Given the description of an element on the screen output the (x, y) to click on. 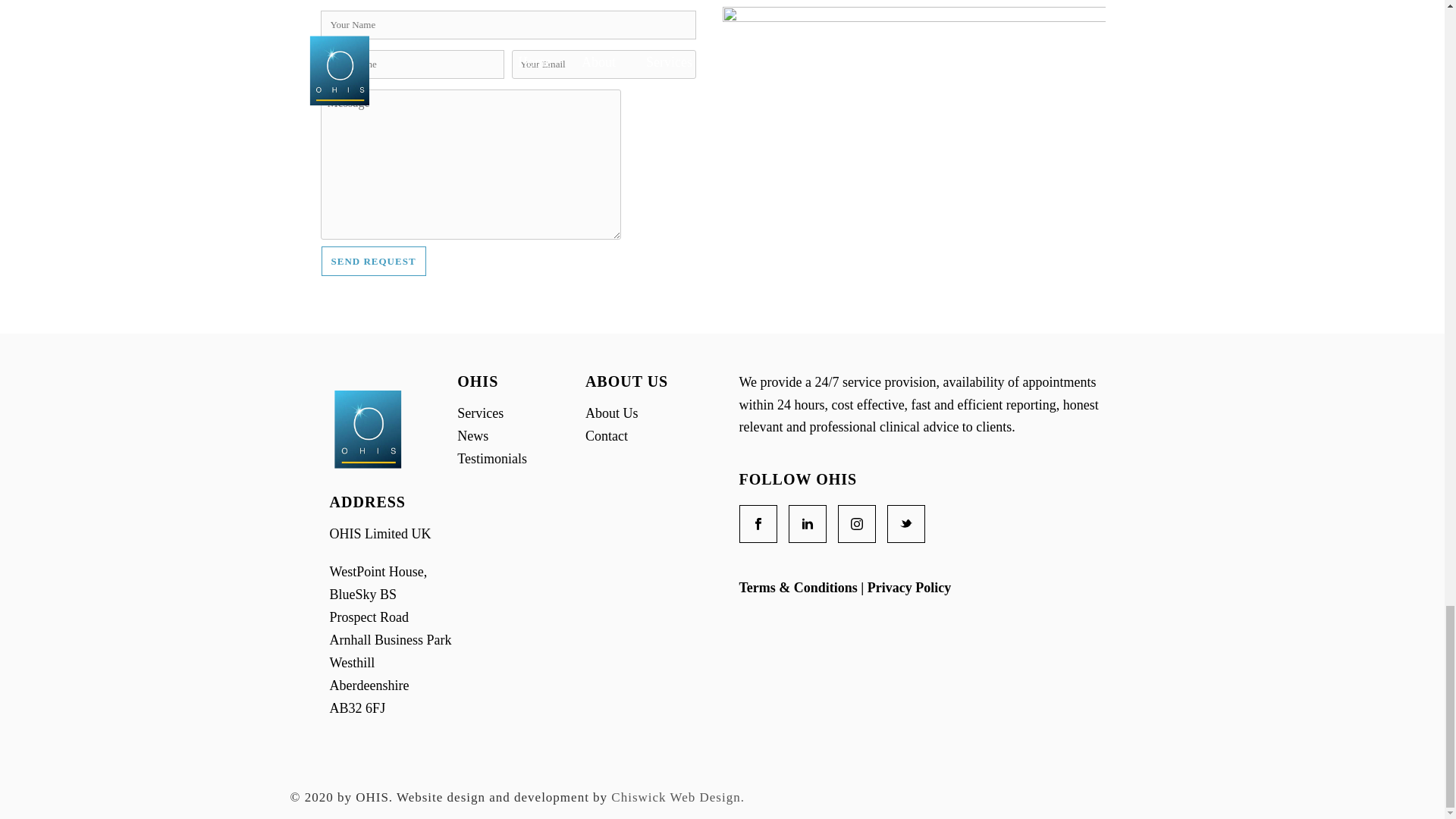
Follow Us on twitter (905, 523)
SEND REQUEST (373, 261)
Follow Us on facebook (757, 523)
SEND REQUEST (373, 261)
Follow Us on instagram (856, 523)
Follow Us on linkedin (808, 523)
